Given the description of an element on the screen output the (x, y) to click on. 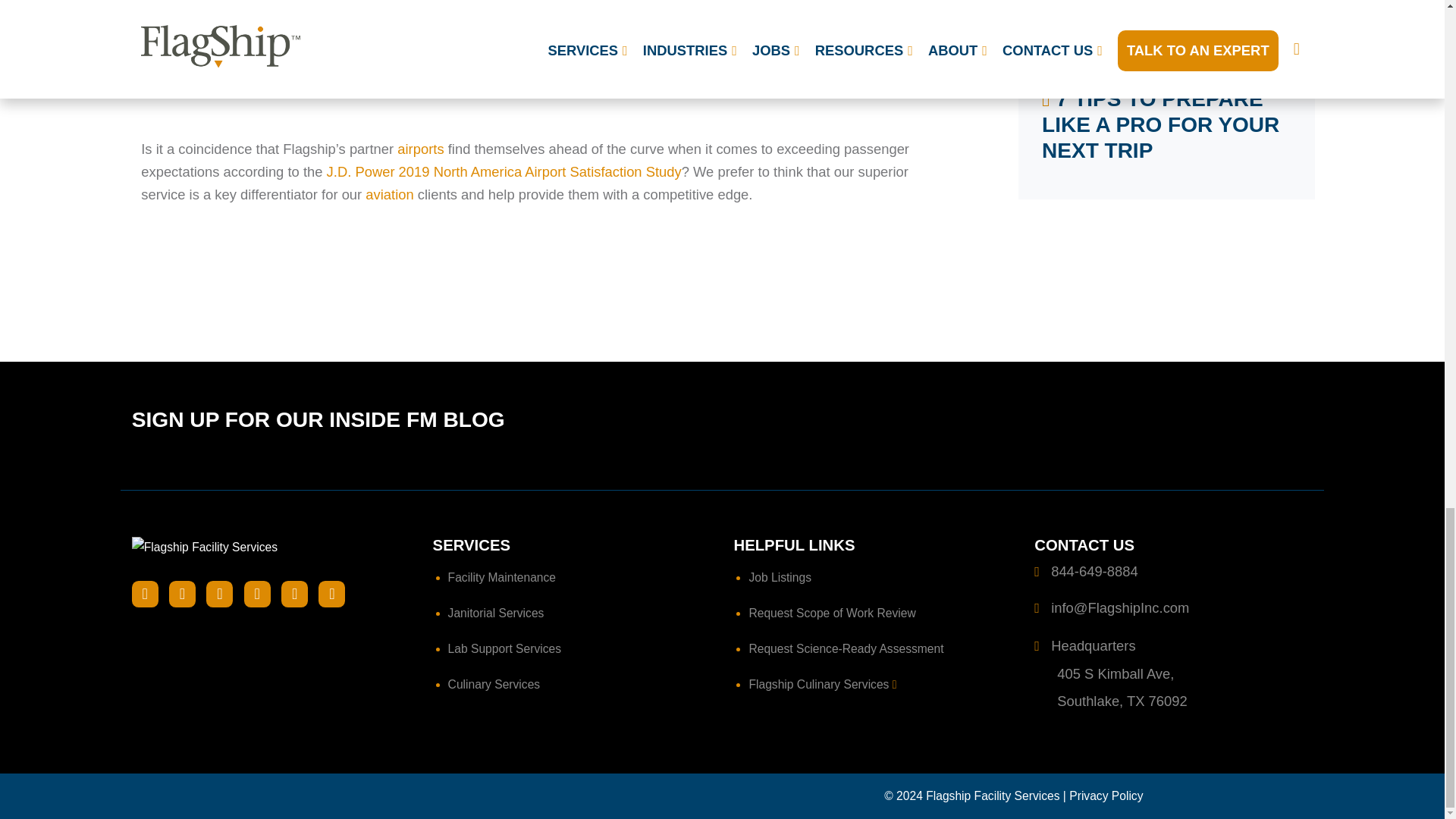
airports (420, 148)
J.D. Power 2019 Airport Satisfaction Study (503, 171)
2019 JD Power North America Airport Satisfaction Study (544, 61)
aviation (389, 194)
